Given the description of an element on the screen output the (x, y) to click on. 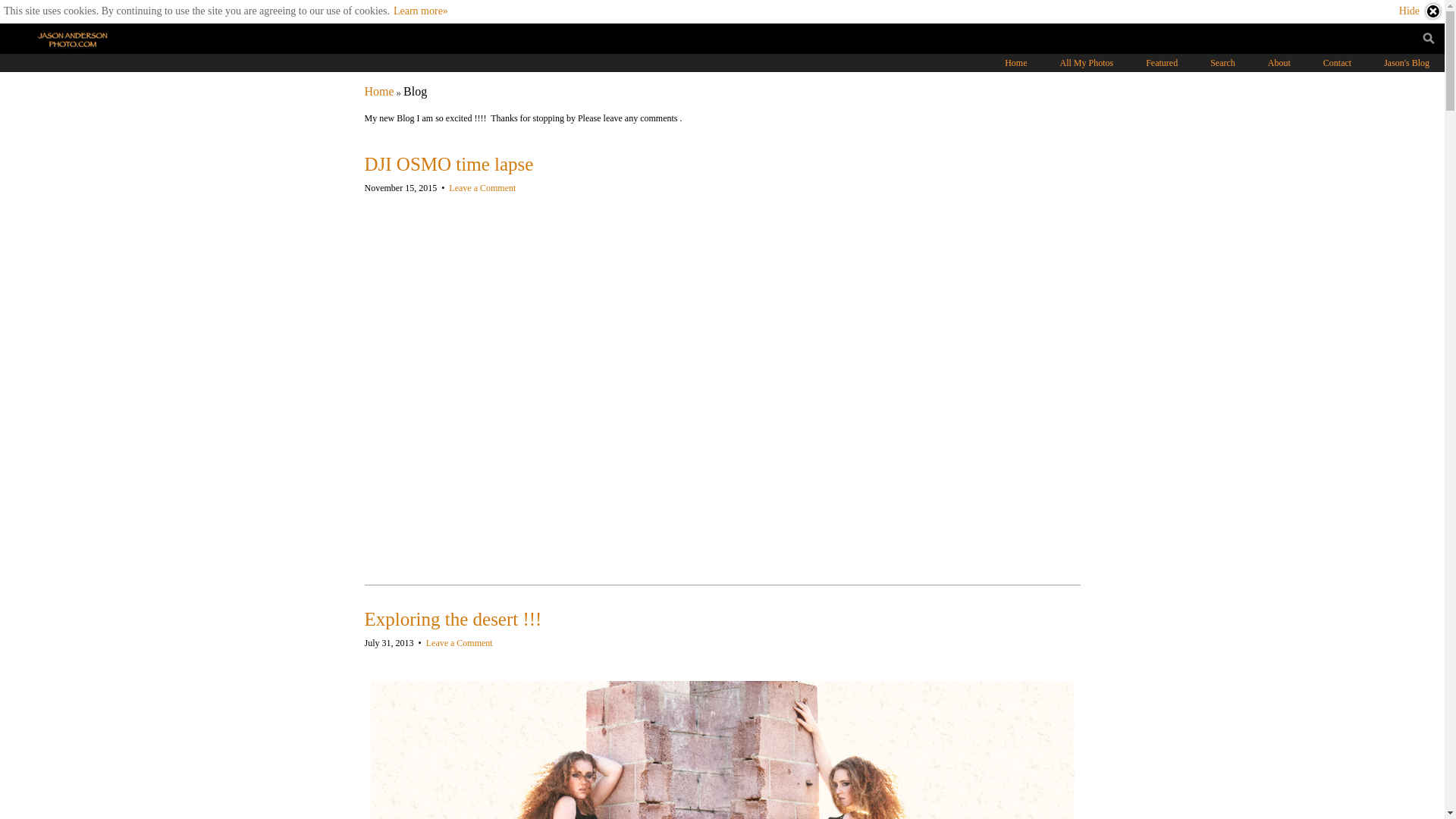
Leave a Comment (459, 643)
Jason Anderson Photo.com (75, 38)
Featured (1161, 62)
Home (378, 91)
Contact (1337, 62)
DJI OSMO time lapse (448, 163)
Hide (1420, 11)
Home (1016, 62)
Jason Anderson Photo.com (378, 91)
Search (1222, 62)
About (1279, 62)
All My Photos (1087, 62)
Leave a Comment (481, 187)
Exploring the desert !!! (452, 619)
